Given the description of an element on the screen output the (x, y) to click on. 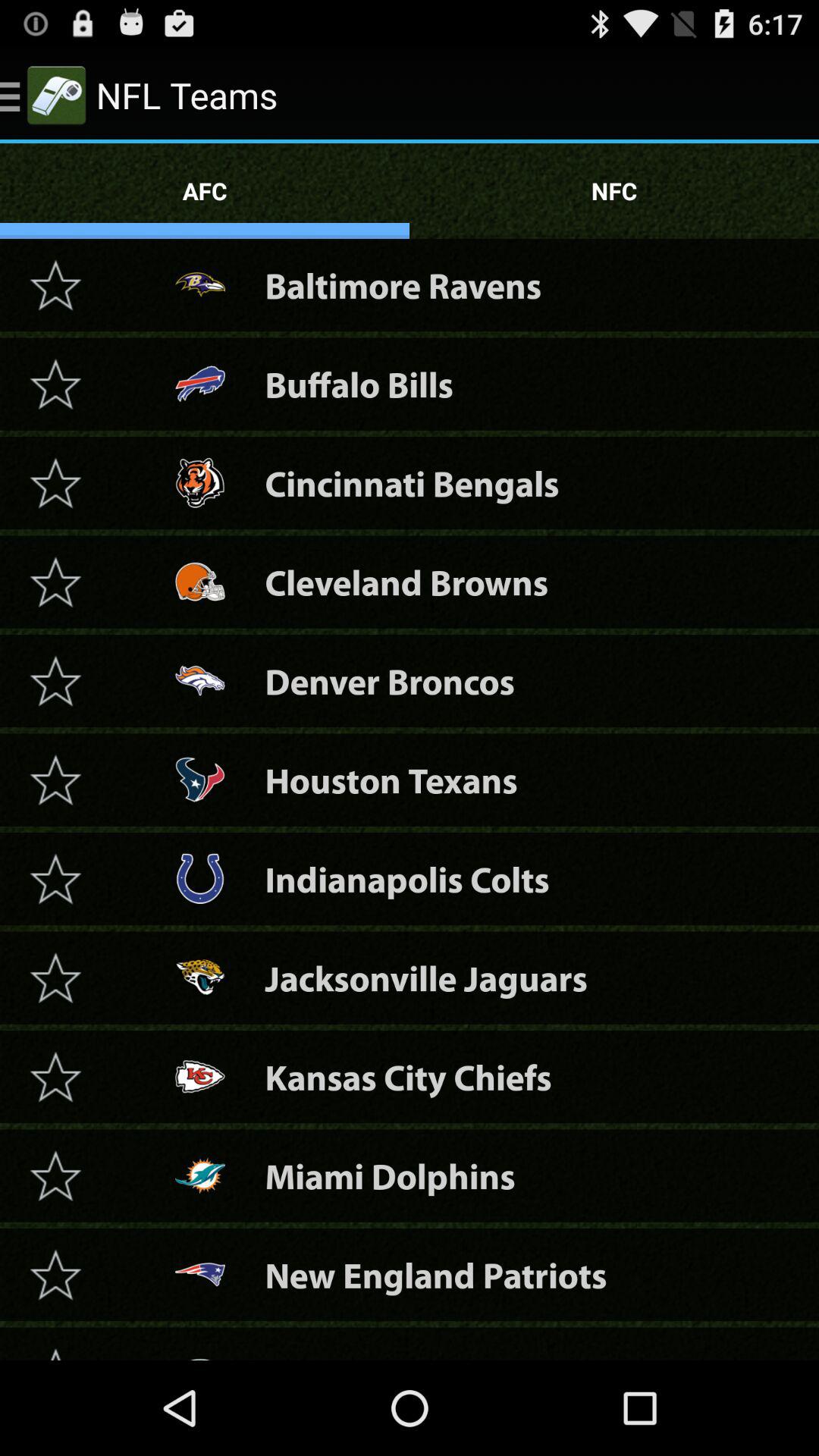
click the item below miami dolphins (435, 1274)
